Given the description of an element on the screen output the (x, y) to click on. 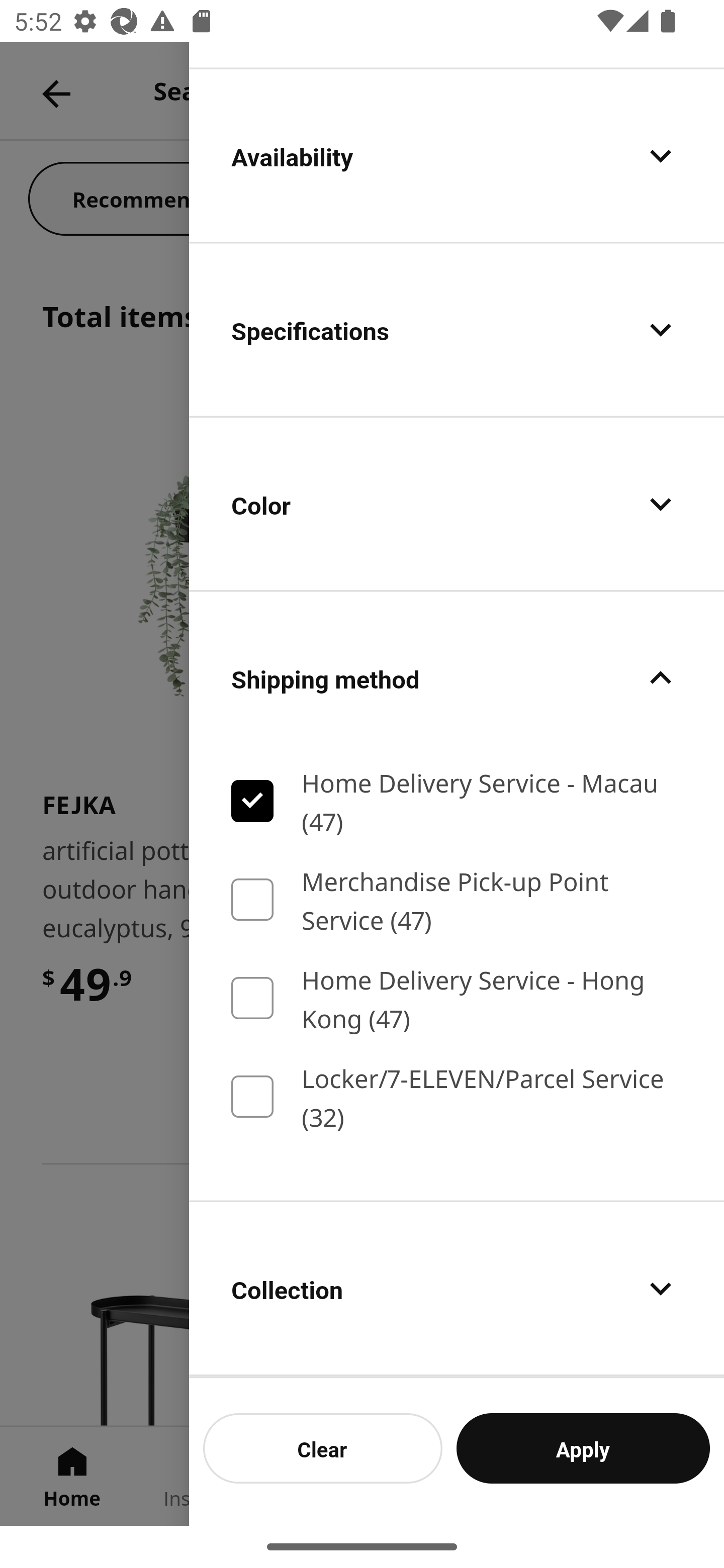
Availability (456, 155)
Specifications (456, 328)
Color (456, 504)
Shipping method (456, 678)
Home Delivery Service - Macau (47) (456, 801)
Merchandise Pick-up Point Service (47) (456, 898)
Home Delivery Service - Hong Kong (47) (456, 997)
Locker/7-ELEVEN/Parcel Service (32) (456, 1096)
Collection (456, 1288)
Clear (322, 1447)
Apply (583, 1447)
